Given the description of an element on the screen output the (x, y) to click on. 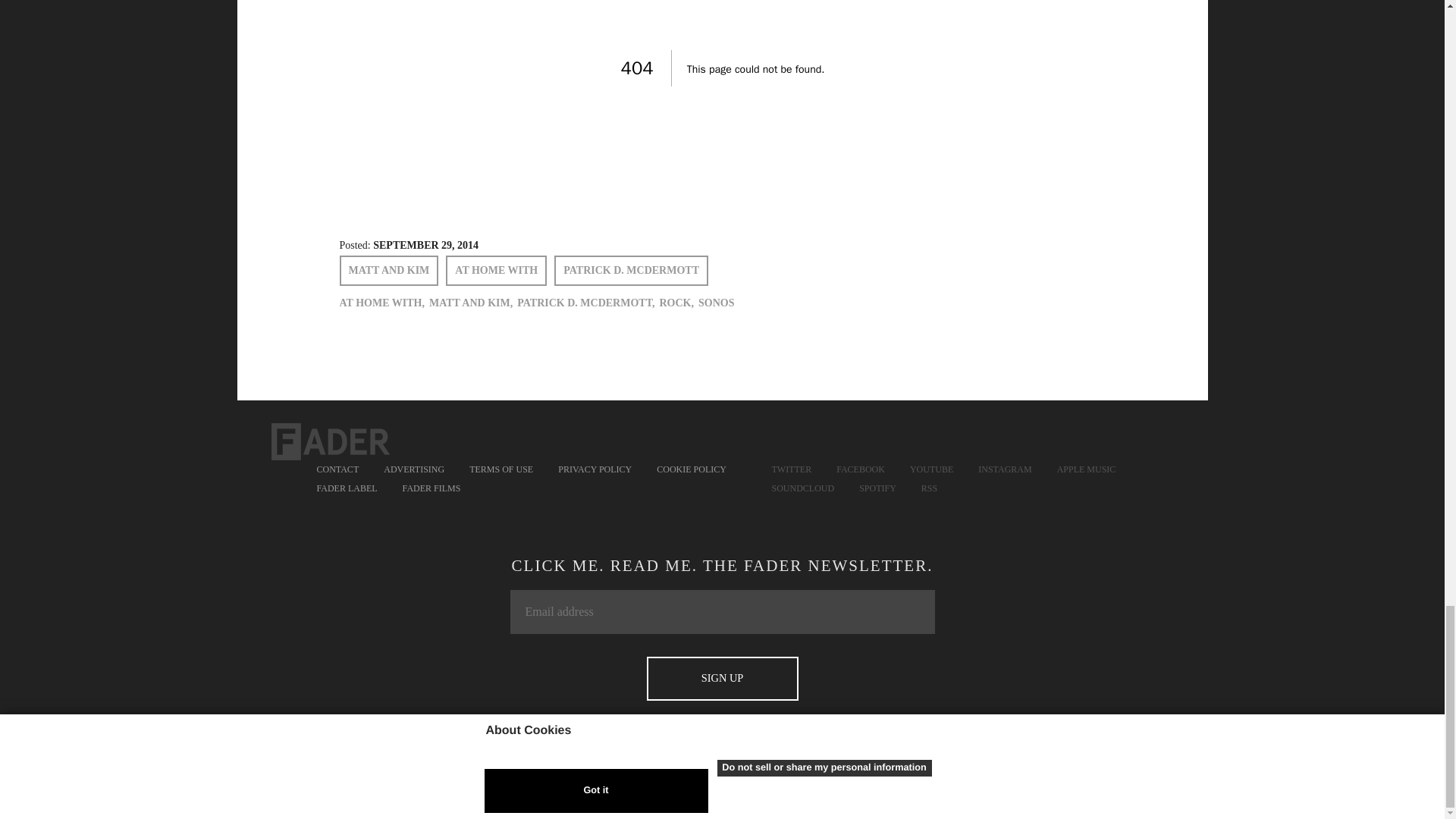
Sign Up (721, 678)
